Given the description of an element on the screen output the (x, y) to click on. 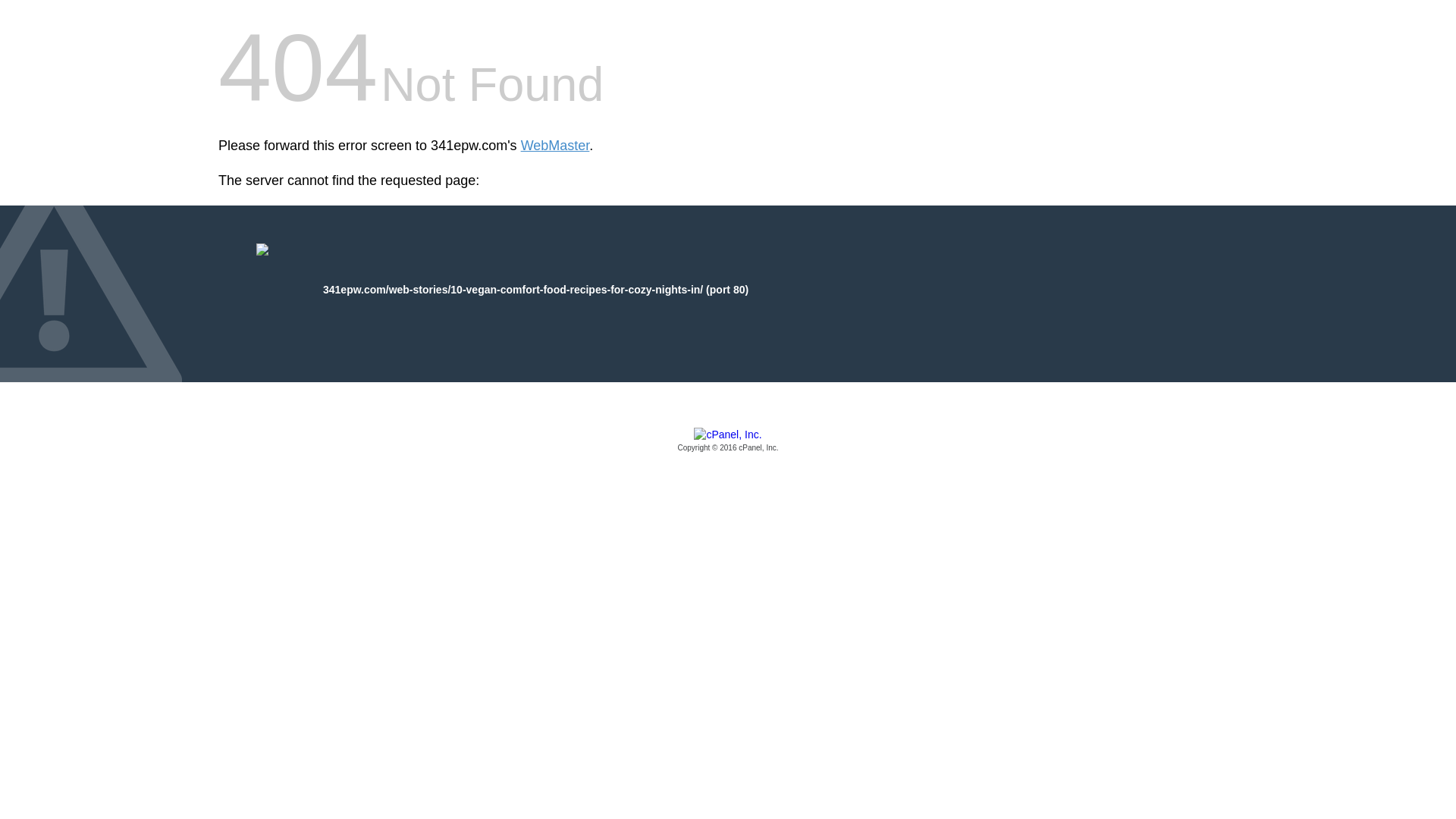
WebMaster (555, 145)
cPanel, Inc. (727, 440)
